Given the description of an element on the screen output the (x, y) to click on. 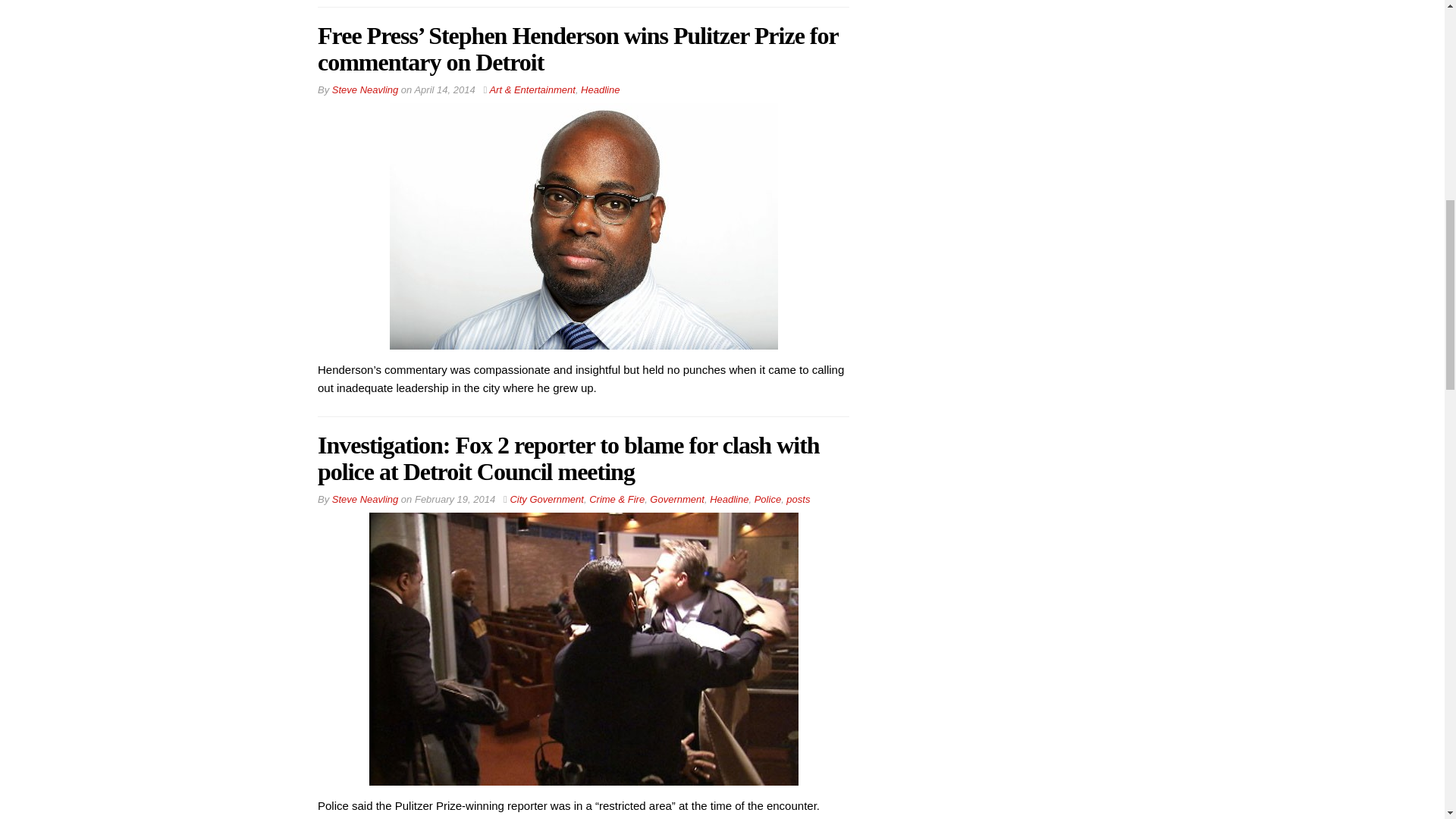
Steve Neavling (364, 499)
Headline (600, 89)
City Government (546, 499)
Steve Neavling (364, 89)
